Given the description of an element on the screen output the (x, y) to click on. 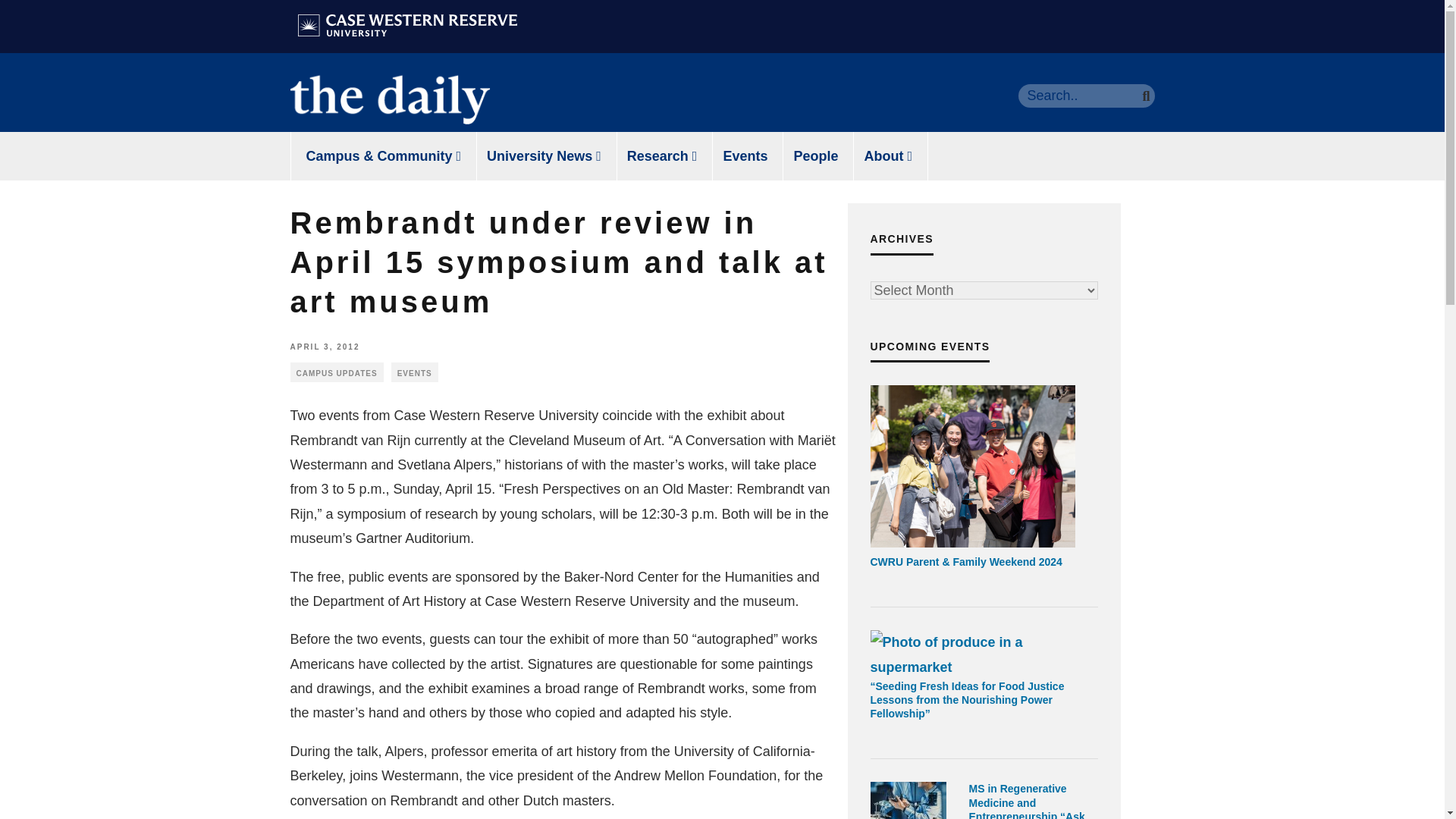
University News (544, 155)
About (888, 155)
EVENTS (414, 372)
Events (745, 155)
People (815, 155)
CAMPUS UPDATES (335, 372)
Research (662, 155)
